Given the description of an element on the screen output the (x, y) to click on. 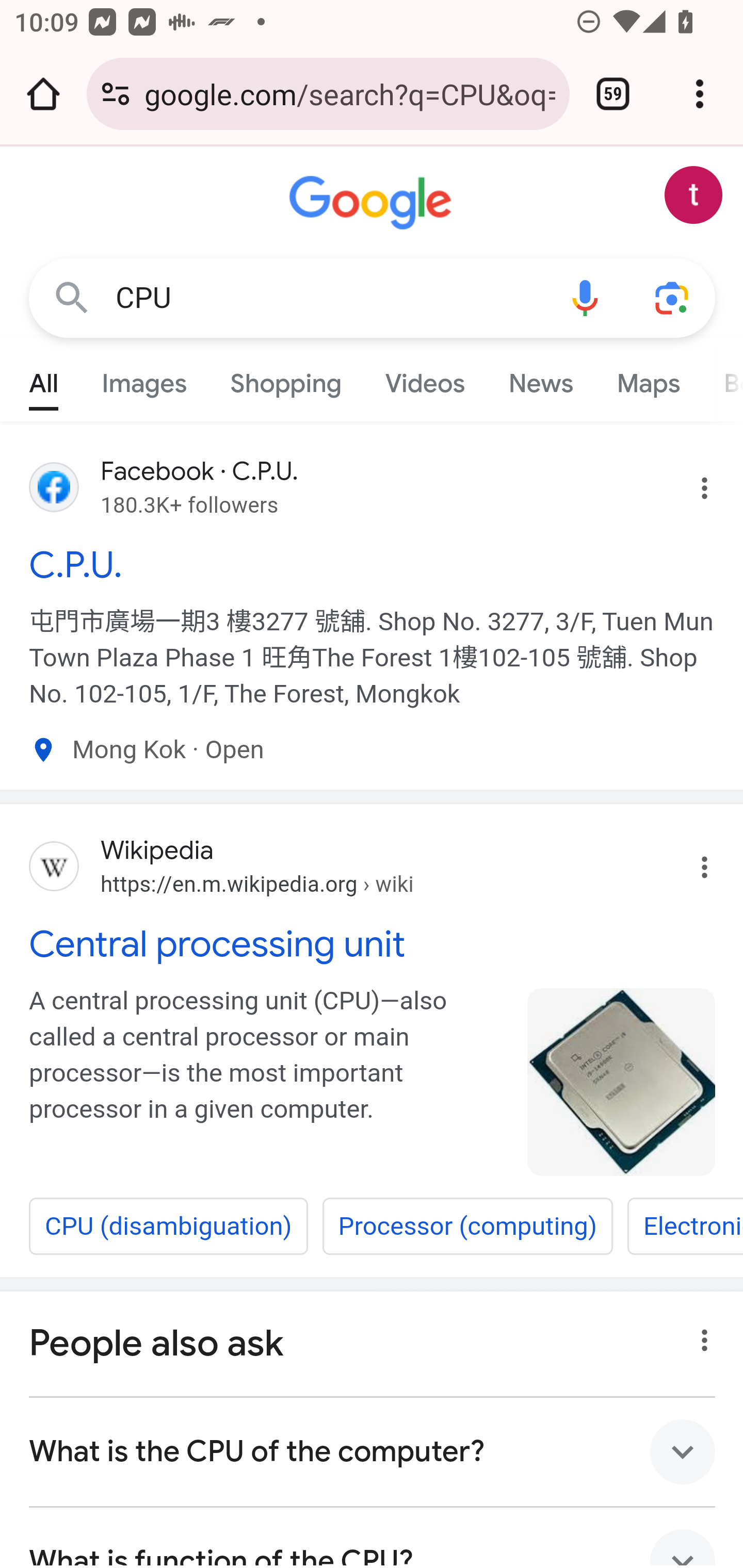
Open the home page (43, 93)
Connection is secure (115, 93)
Switch or close tabs (612, 93)
Customize and control Google Chrome (699, 93)
Google (372, 203)
Google Search (71, 296)
Search using your camera or photos (672, 296)
CPU (328, 297)
Images (144, 378)
Shopping (285, 378)
Videos (424, 378)
News (540, 378)
Maps (647, 378)
C.P.U. (372, 564)
Central processing unit (372, 943)
Central_processing_unit (621, 1082)
CPU (disambiguation) (168, 1225)
Processor (computing) (467, 1225)
Electronic circuit (684, 1225)
About this result (698, 1334)
What is the CPU of the computer? (372, 1451)
